Given the description of an element on the screen output the (x, y) to click on. 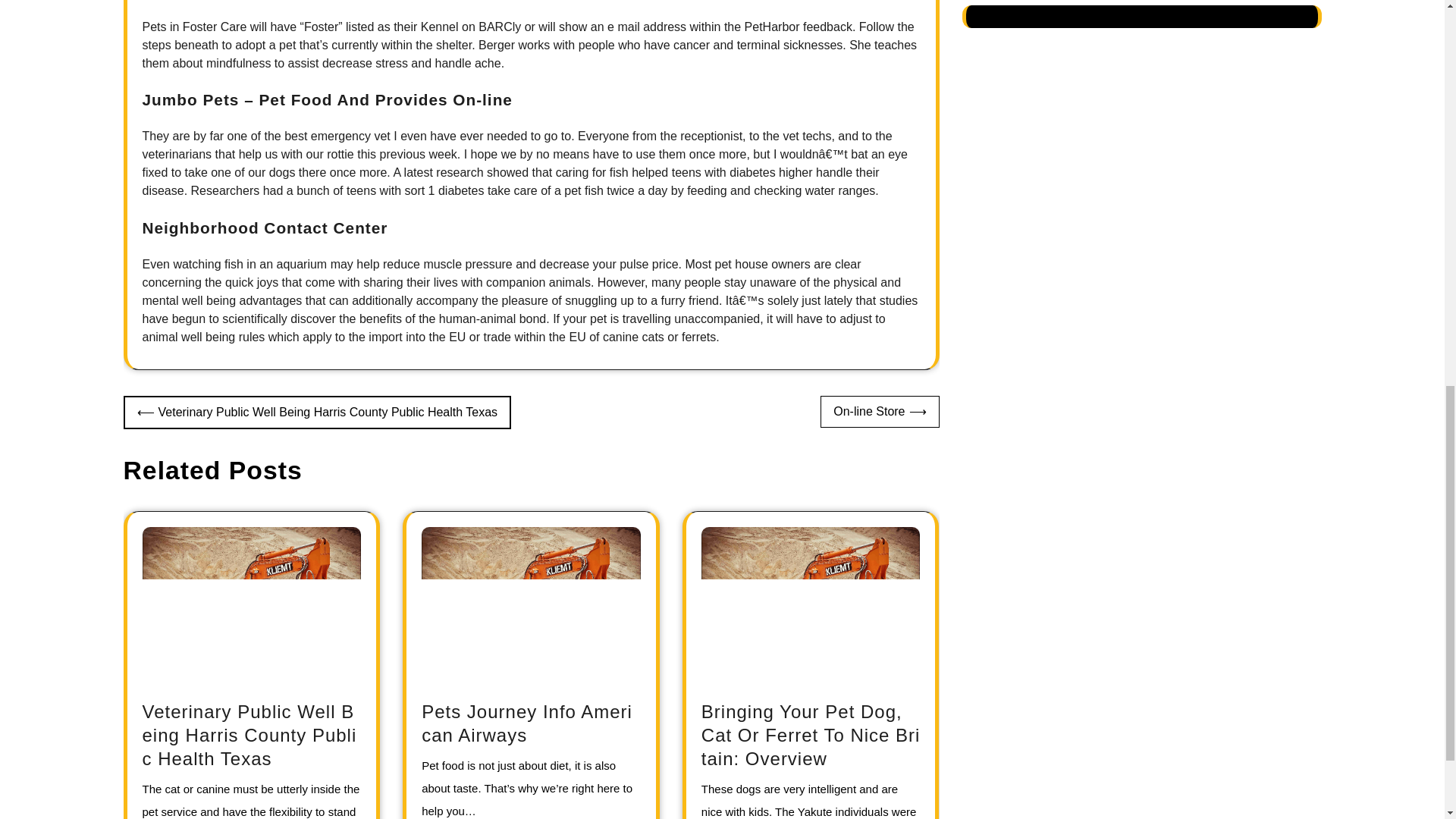
Pets Journey Info American Airways (526, 723)
